Given the description of an element on the screen output the (x, y) to click on. 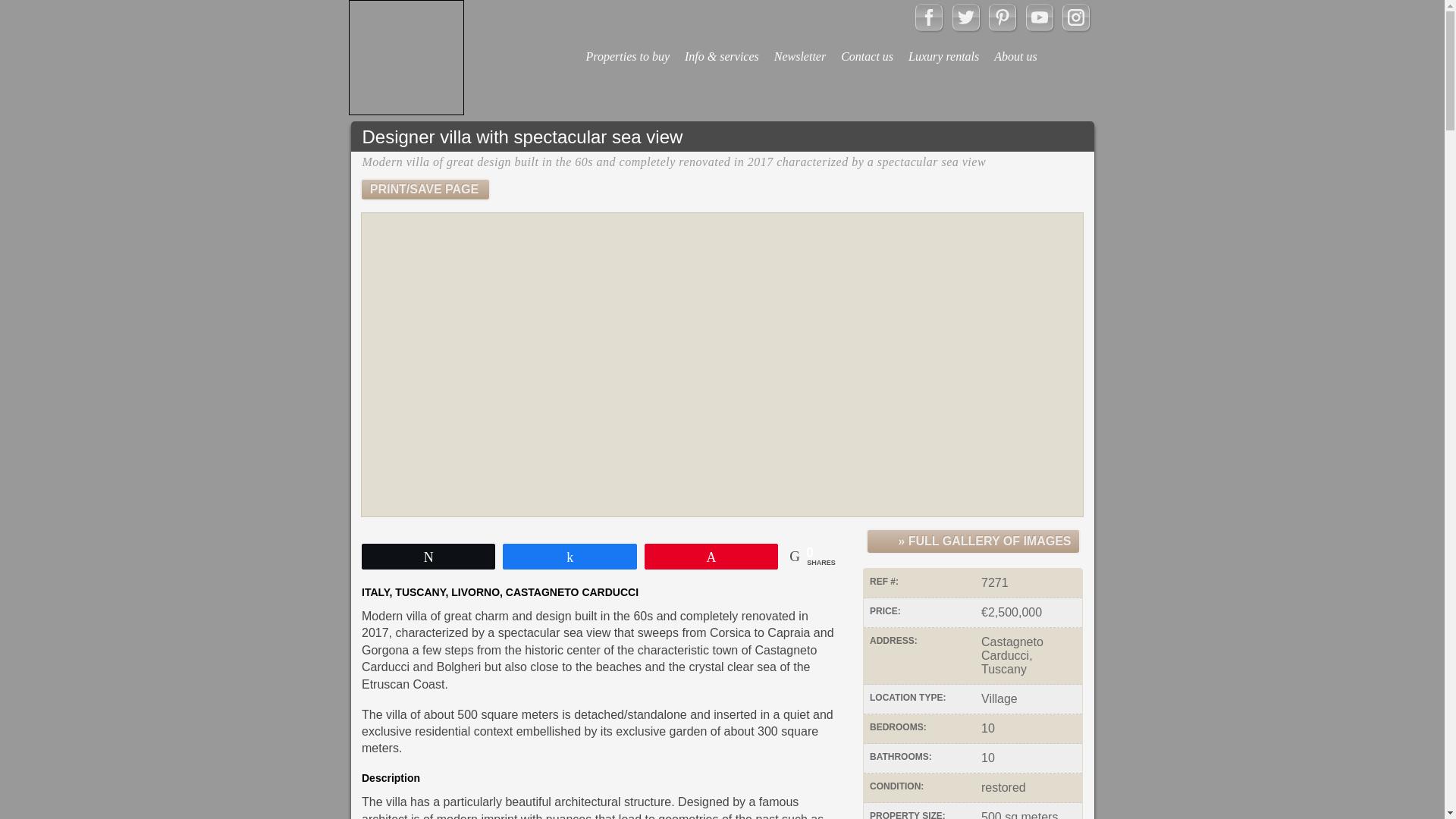
Properties to buy (627, 45)
Follow Casa Tuscany on Instagram (1075, 26)
Casa Tuscany (406, 57)
Newsletter (799, 45)
Follow Casa Tuscany on Facebook (928, 26)
YouTube Channel (1039, 17)
Pinterest Profile (1002, 17)
Follow Casa Tuscany on Instagram (1075, 17)
Information and Services (722, 45)
YouTube Channel (1039, 26)
